Given the description of an element on the screen output the (x, y) to click on. 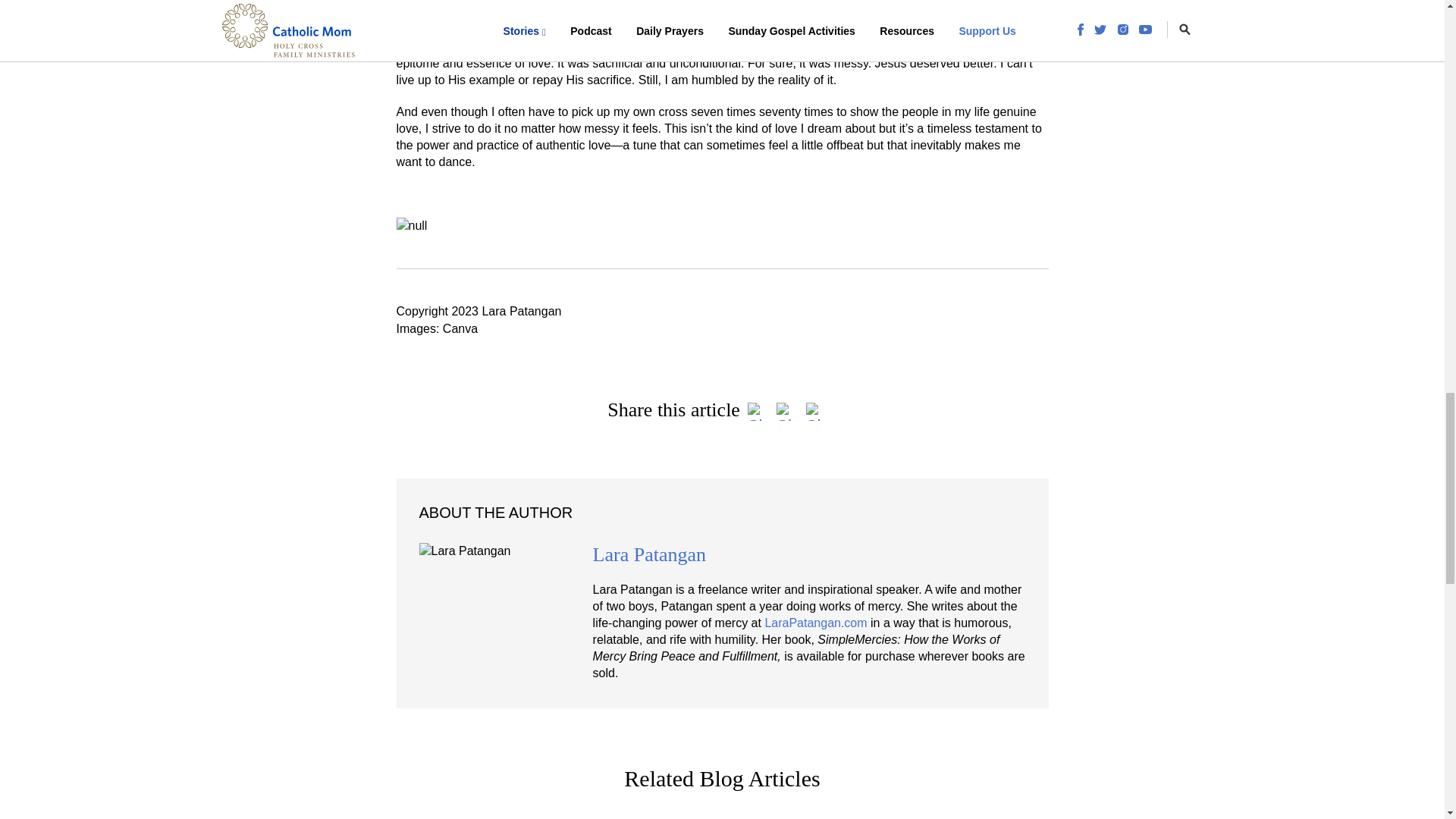
LaraPatangan.com (815, 622)
Lara Patangan (649, 554)
